Given the description of an element on the screen output the (x, y) to click on. 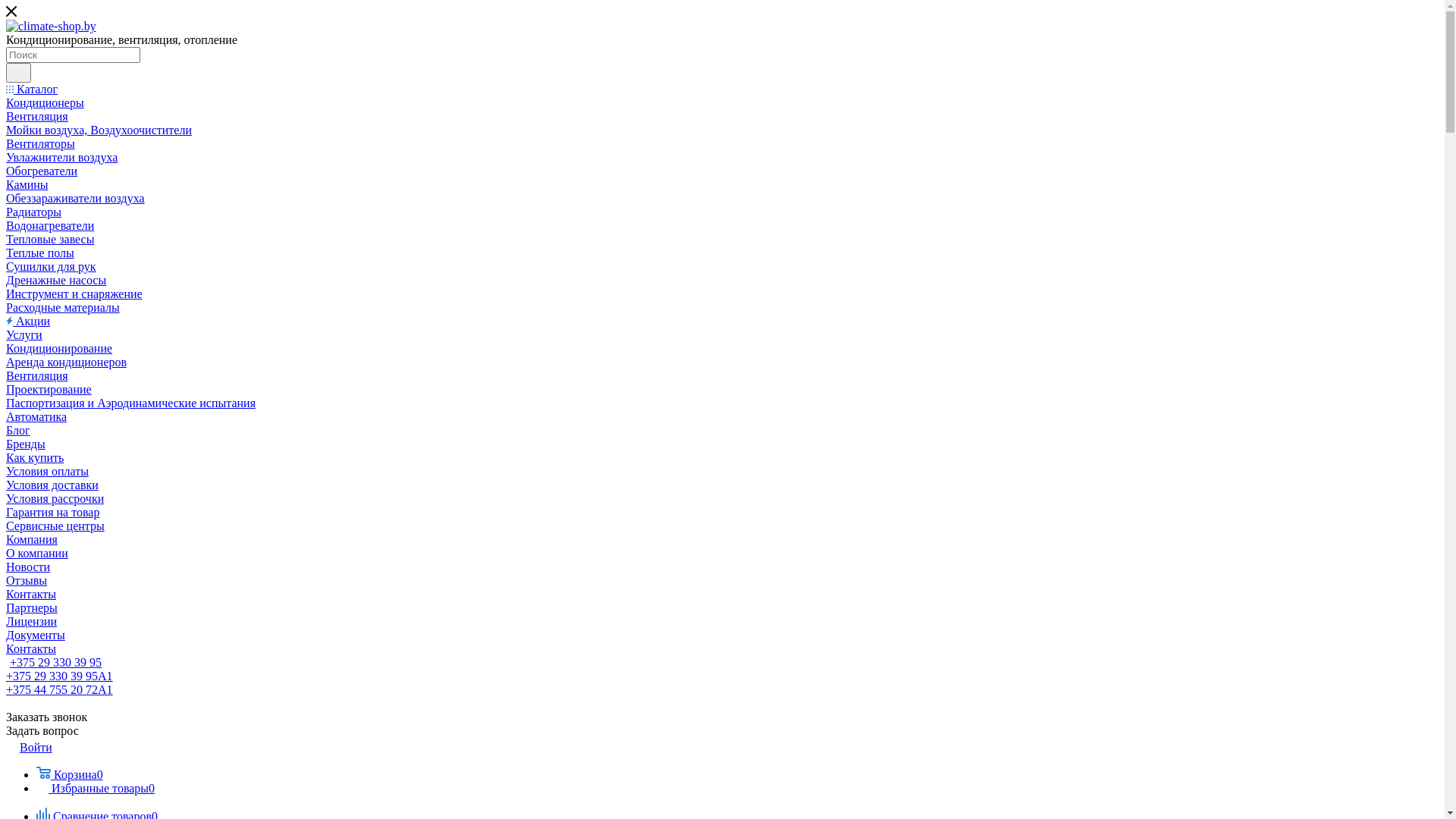
climate-shop.by Element type: hover (51, 26)
+375 29 330 39 95 Element type: text (55, 661)
